Given the description of an element on the screen output the (x, y) to click on. 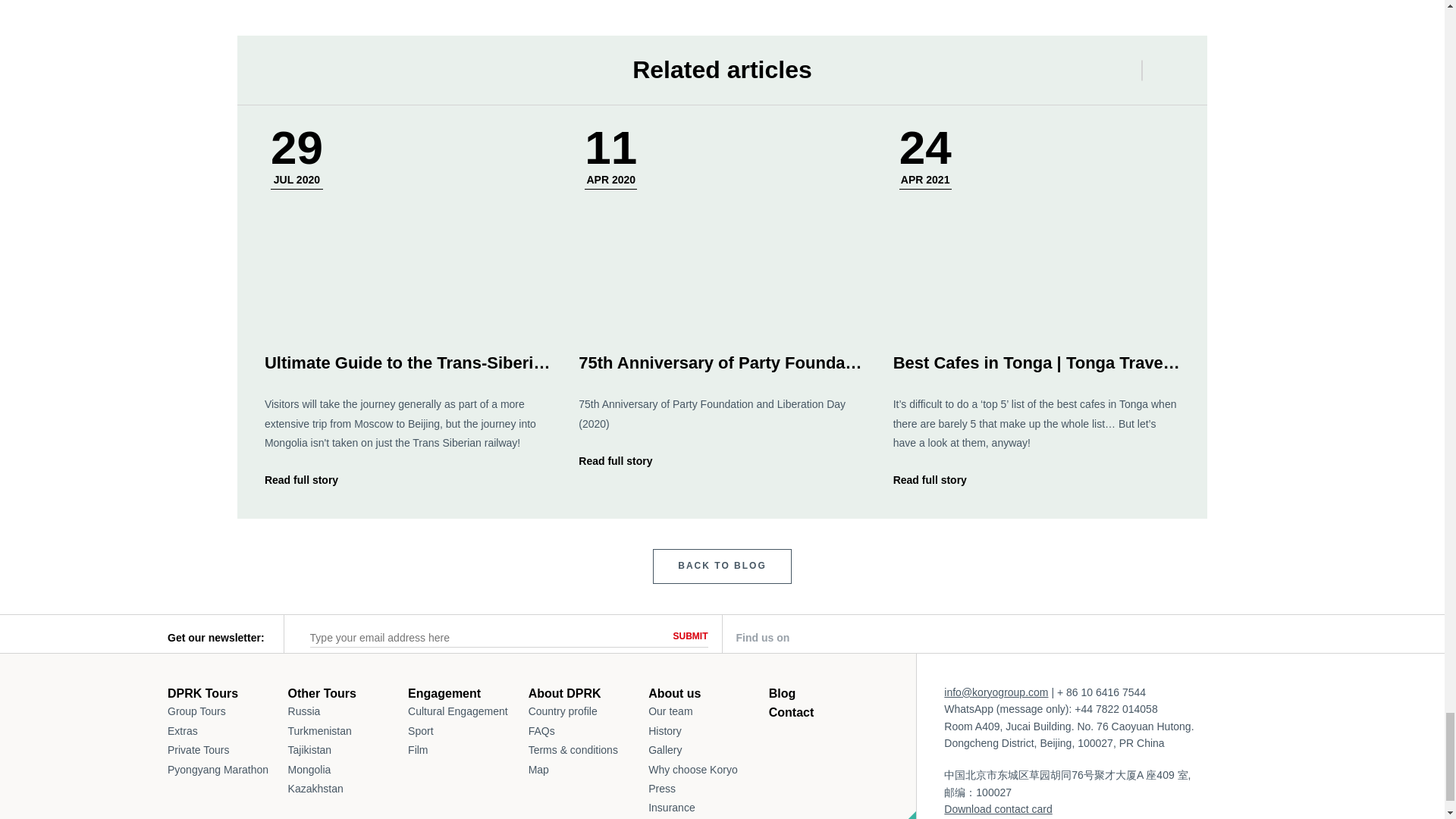
YouTube (1083, 637)
Instagram (1004, 638)
Flickr (1161, 636)
Twitter (928, 637)
